Given the description of an element on the screen output the (x, y) to click on. 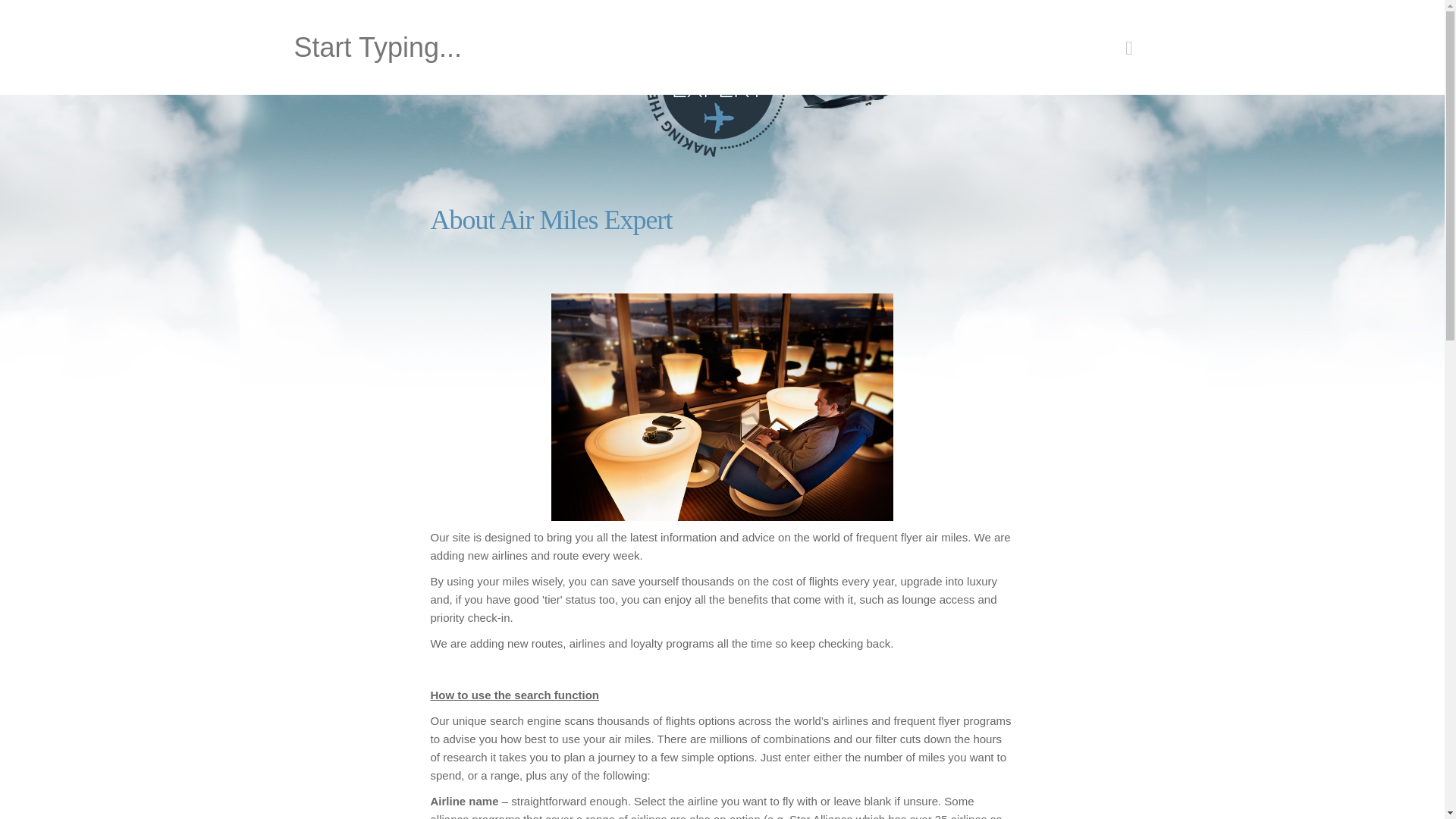
Search (318, 38)
Enter the terms you wish to search for. (686, 47)
Search (318, 38)
